Given the description of an element on the screen output the (x, y) to click on. 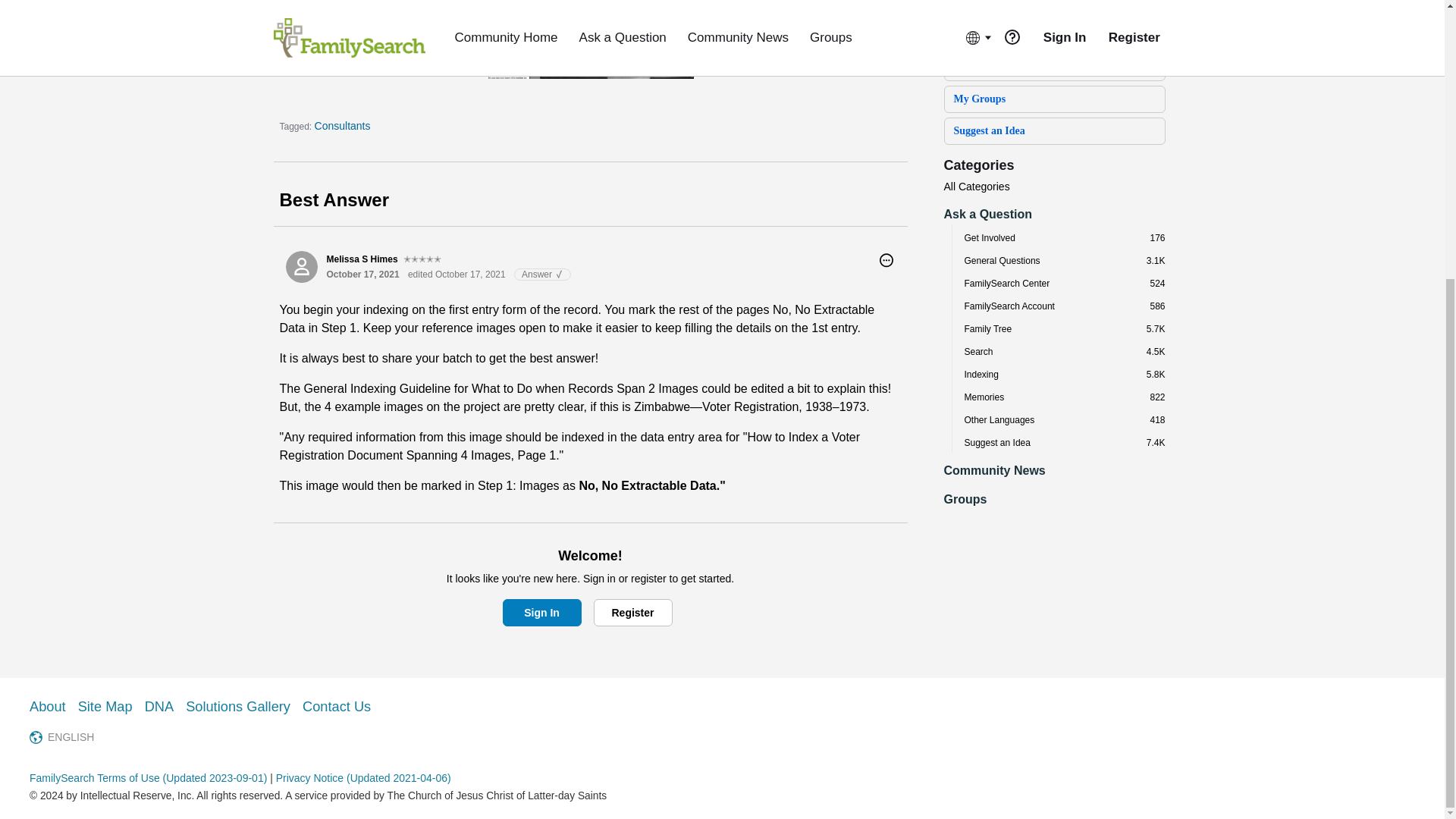
Edited October 17, 2021 8:21PM by Melissa S Himes. (456, 274)
Level 5 (422, 259)
Register (631, 612)
3,145 discussions (1156, 260)
524 discussions (1157, 283)
Sign In (541, 612)
Melissa S Himes (301, 266)
October 17, 2021 8:16PM (362, 274)
176 discussions (1157, 237)
